Given the description of an element on the screen output the (x, y) to click on. 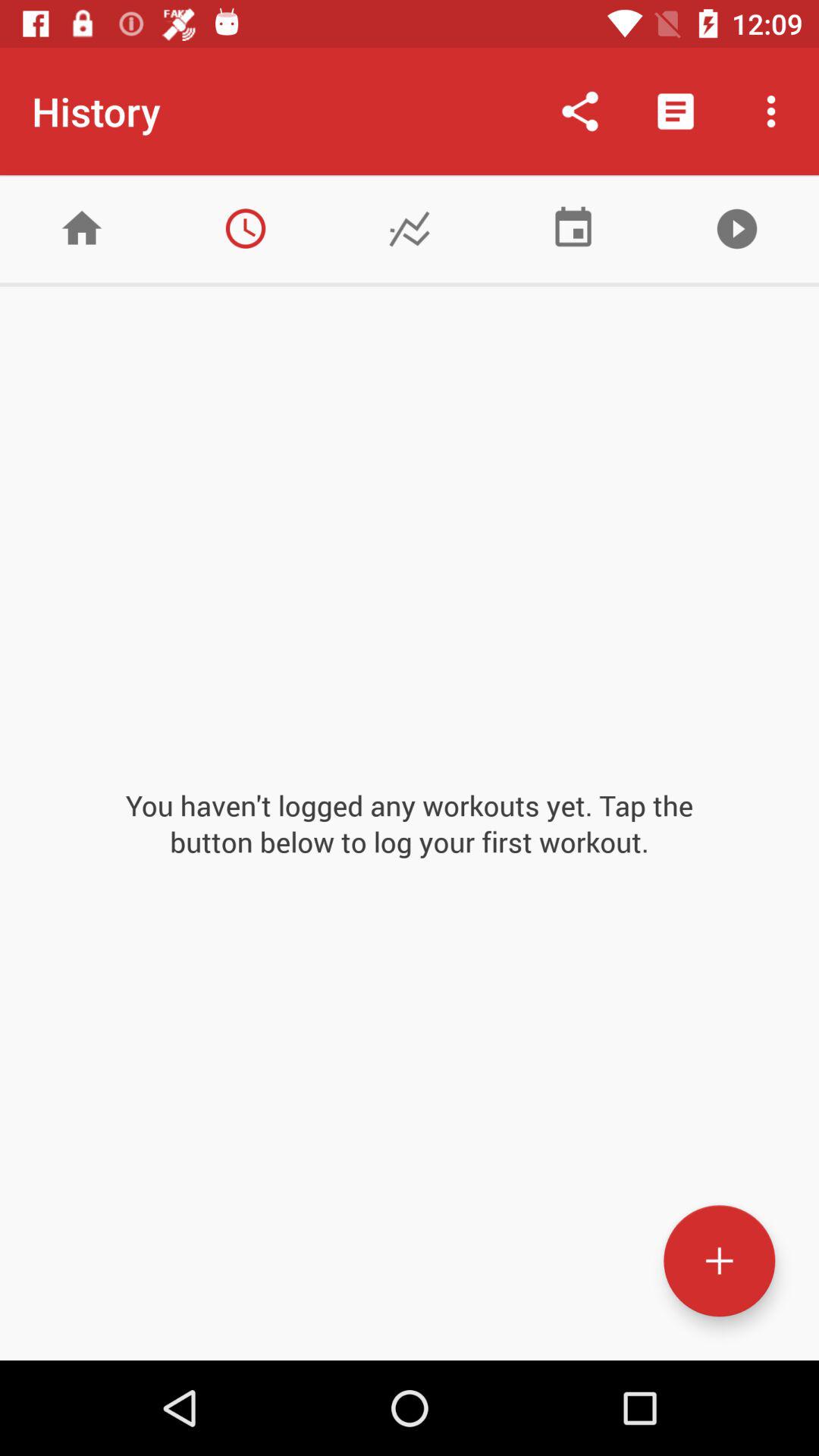
choose the item next to the history icon (579, 111)
